Given the description of an element on the screen output the (x, y) to click on. 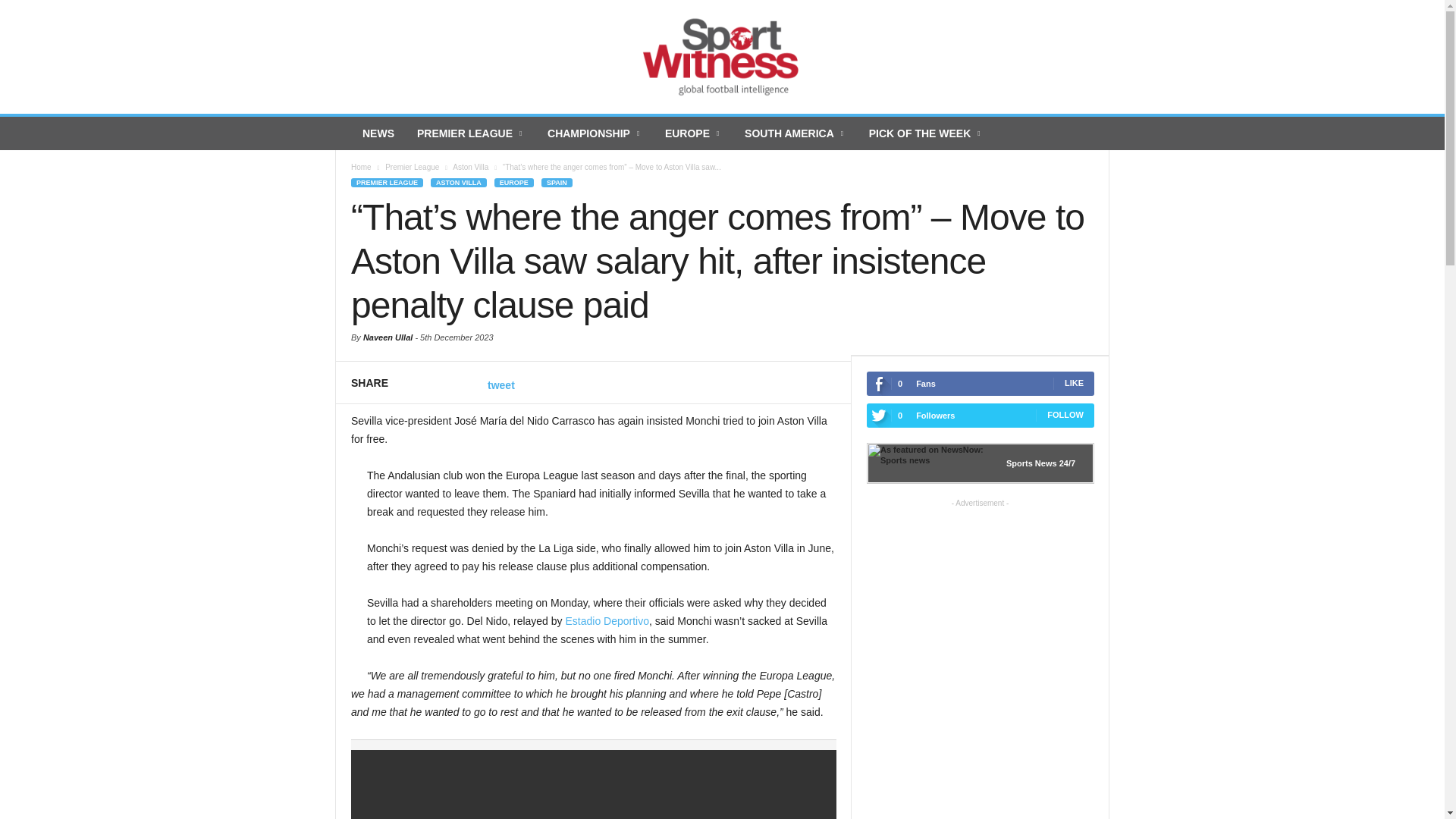
Sportwitness (722, 56)
